Given the description of an element on the screen output the (x, y) to click on. 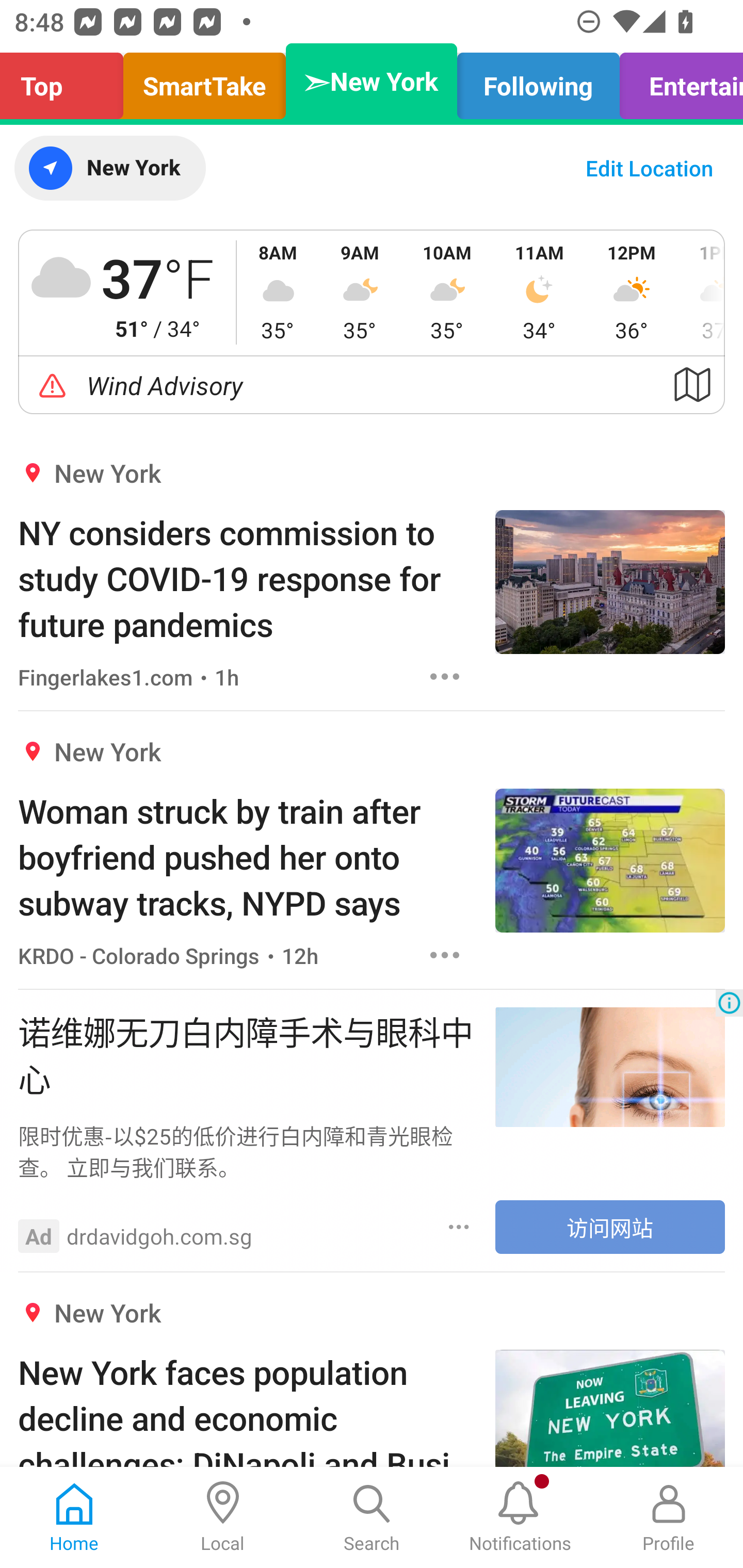
Top (67, 81)
SmartTake (204, 81)
➣New York (371, 81)
Following (538, 81)
New York (109, 168)
Edit Location (648, 168)
8AM 35° (277, 291)
9AM 35° (359, 291)
10AM 35° (447, 291)
11AM 34° (539, 291)
12PM 36° (631, 291)
Wind Advisory (371, 384)
Options (444, 676)
Options (444, 954)
Ad Choices Icon (729, 1002)
诺维娜无刀白内障手术与眼科中心 (247, 1053)
限时优惠-以$25的低价进行白内障和青光眼检查。 立即与我们联系。 (247, 1150)
访问网站 (610, 1226)
Options (459, 1226)
drdavidgoh.com.sg (159, 1236)
Local (222, 1517)
Search (371, 1517)
Notifications, New notification Notifications (519, 1517)
Profile (668, 1517)
